Given the description of an element on the screen output the (x, y) to click on. 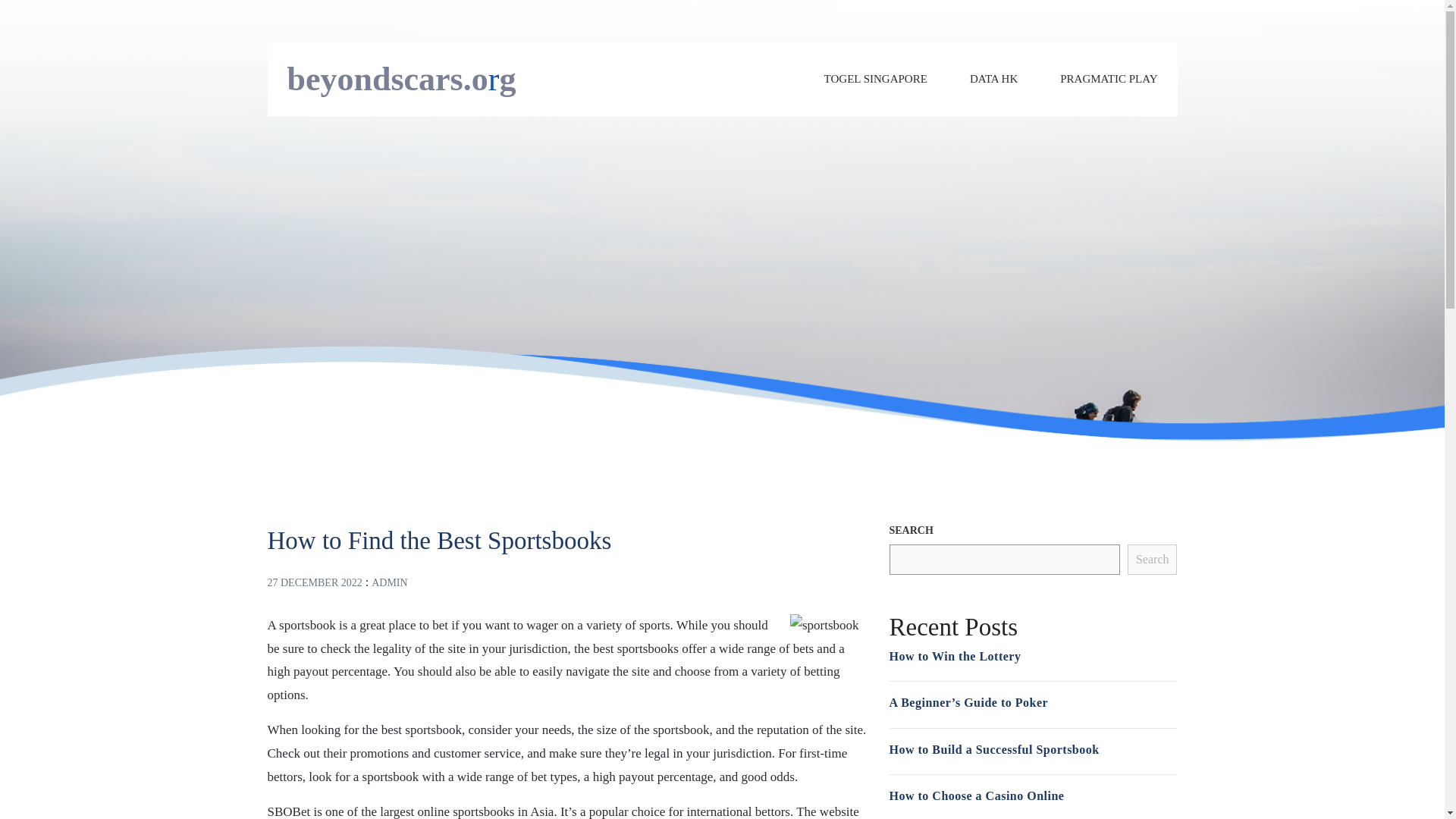
ADMIN (389, 582)
27 DECEMBER 2022 (313, 582)
How to Choose a Casino Online (976, 795)
beyondscars.org (400, 78)
TOGEL SINGAPORE (875, 78)
PRAGMATIC PLAY (1108, 78)
How to Build a Successful Sportsbook (993, 748)
DATA HK (993, 78)
How to Win the Lottery (954, 655)
Search (1151, 559)
